Given the description of an element on the screen output the (x, y) to click on. 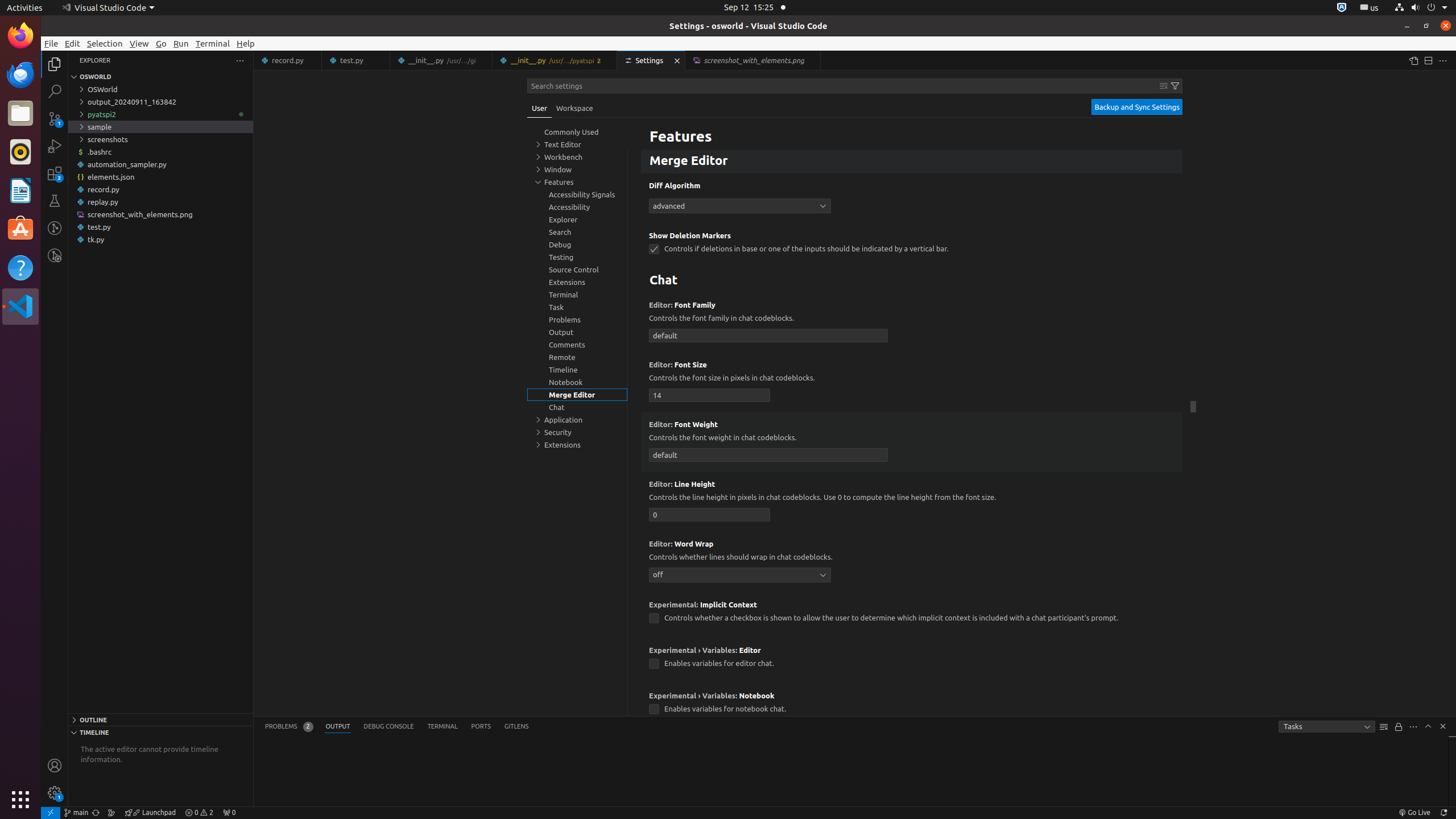
Show the GitLens Commit Graph Element type: push-button (111, 812)
More Actions... (Shift+F9) Element type: push-button (634, 694)
OSWorld (Git) - Synchronize Changes Element type: push-button (95, 812)
Remote, group Element type: tree-item (577, 356)
Accessibility, group Element type: tree-item (577, 206)
